Given the description of an element on the screen output the (x, y) to click on. 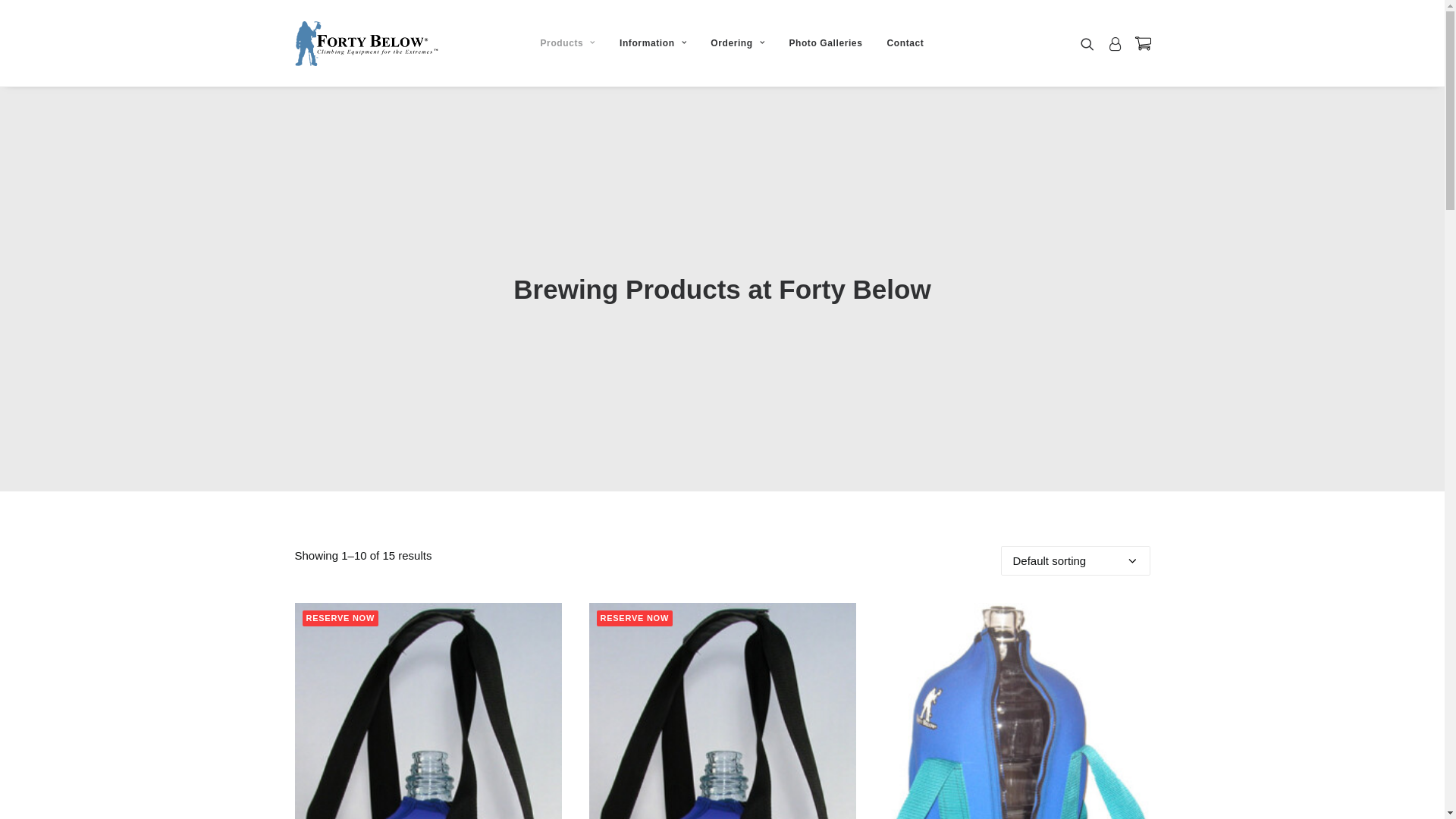
account Element type: hover (1114, 43)
Information Element type: text (652, 43)
Products Element type: text (567, 43)
Contact Element type: text (905, 43)
Photo Galleries Element type: text (825, 43)
cart Element type: hover (1139, 43)
Ordering Element type: text (737, 43)
